Given the description of an element on the screen output the (x, y) to click on. 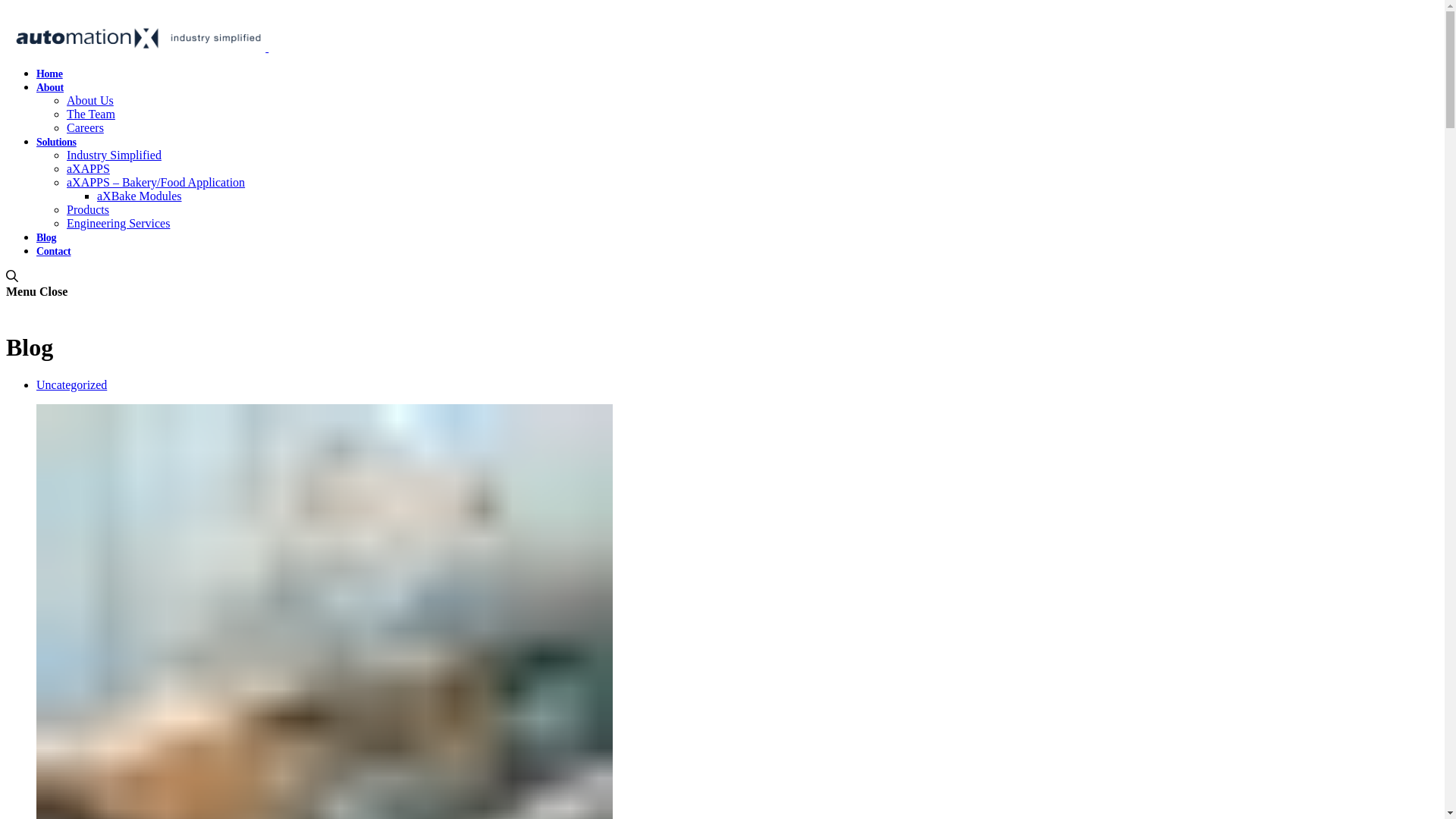
The Team Element type: text (90, 113)
Uncategorized Element type: text (71, 384)
Blog Element type: text (46, 237)
About Element type: text (49, 87)
AutomationX Industrial Solutions Element type: hover (266, 46)
Solutions Element type: text (56, 141)
Engineering Services Element type: text (117, 222)
Contact Element type: text (53, 251)
Industry Simplified Element type: text (113, 154)
Products Element type: text (87, 209)
About Us Element type: text (89, 100)
aXBake Modules Element type: text (139, 195)
Home Element type: text (49, 73)
aXAPPS Element type: text (87, 168)
Careers Element type: text (84, 127)
